Given the description of an element on the screen output the (x, y) to click on. 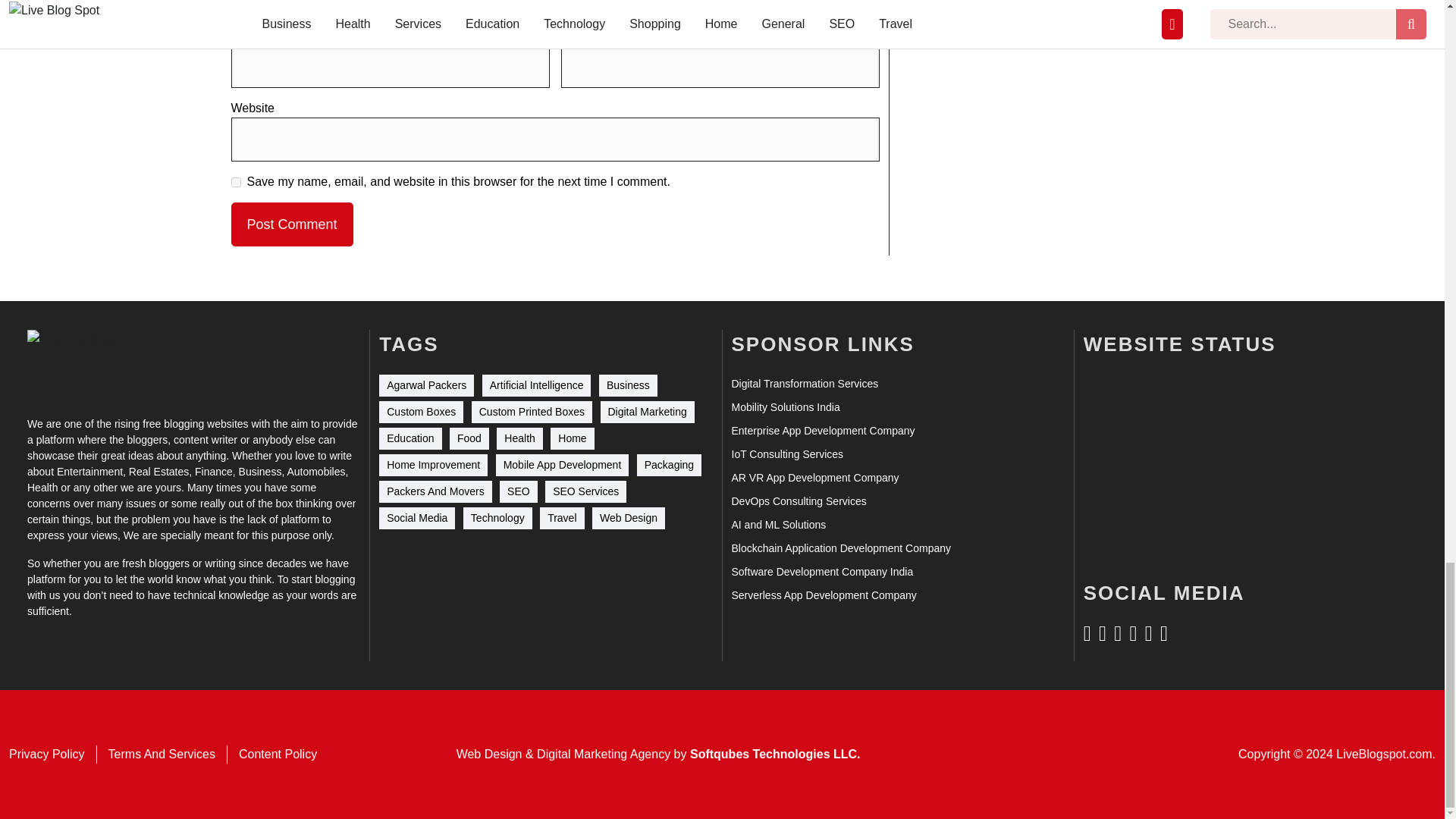
Digital Transformation Services (803, 383)
yes (235, 182)
Mobility Solutions India (785, 407)
Post Comment (291, 224)
IoT Consulting Services (786, 454)
Post Comment (291, 224)
Enterprise App Development Company (822, 430)
AR VR App Development Company (814, 478)
DevOps Consulting Services (798, 501)
Live Blog Spot (81, 363)
